Given the description of an element on the screen output the (x, y) to click on. 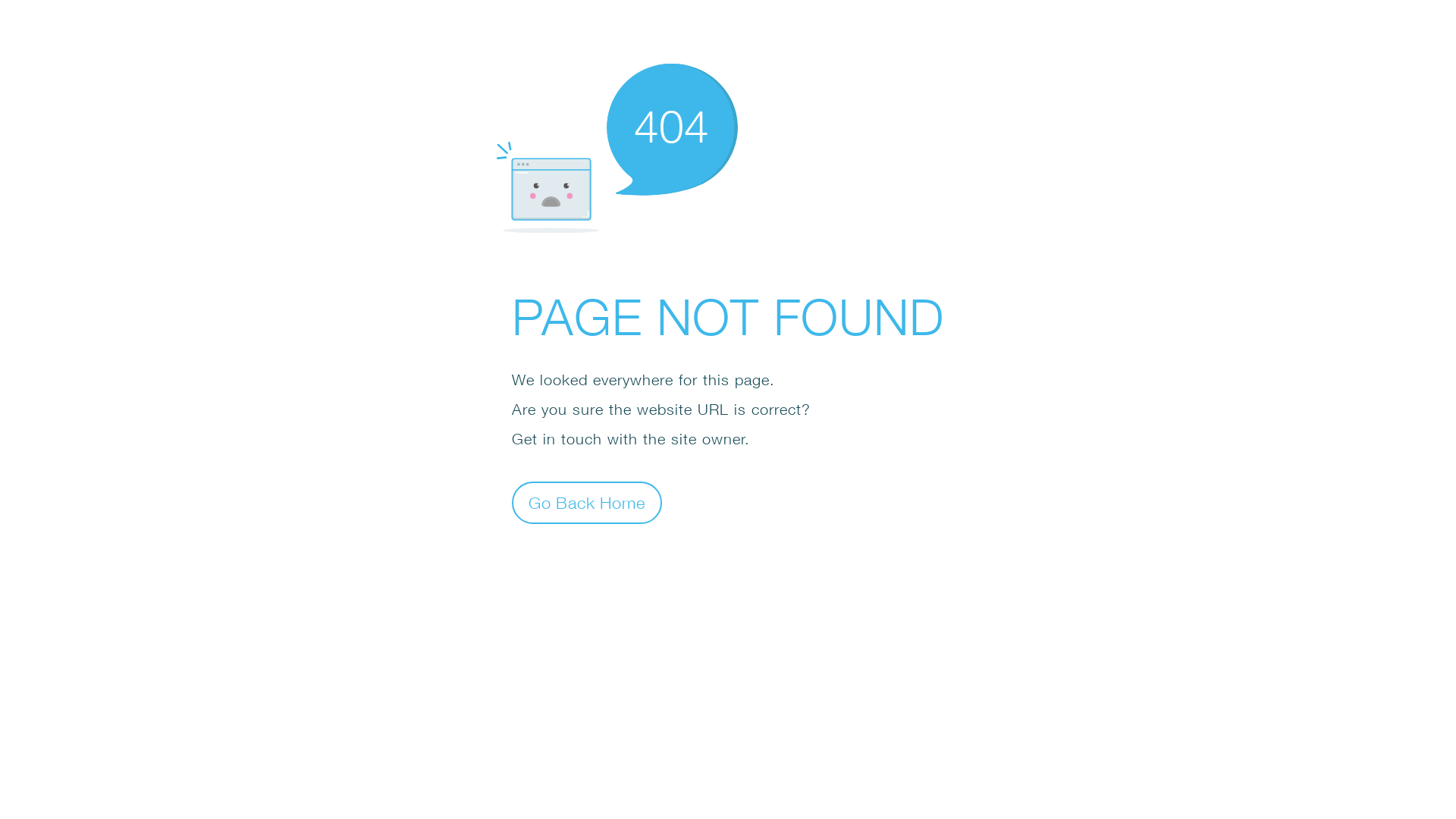
Go Back Home Element type: text (586, 502)
